Given the description of an element on the screen output the (x, y) to click on. 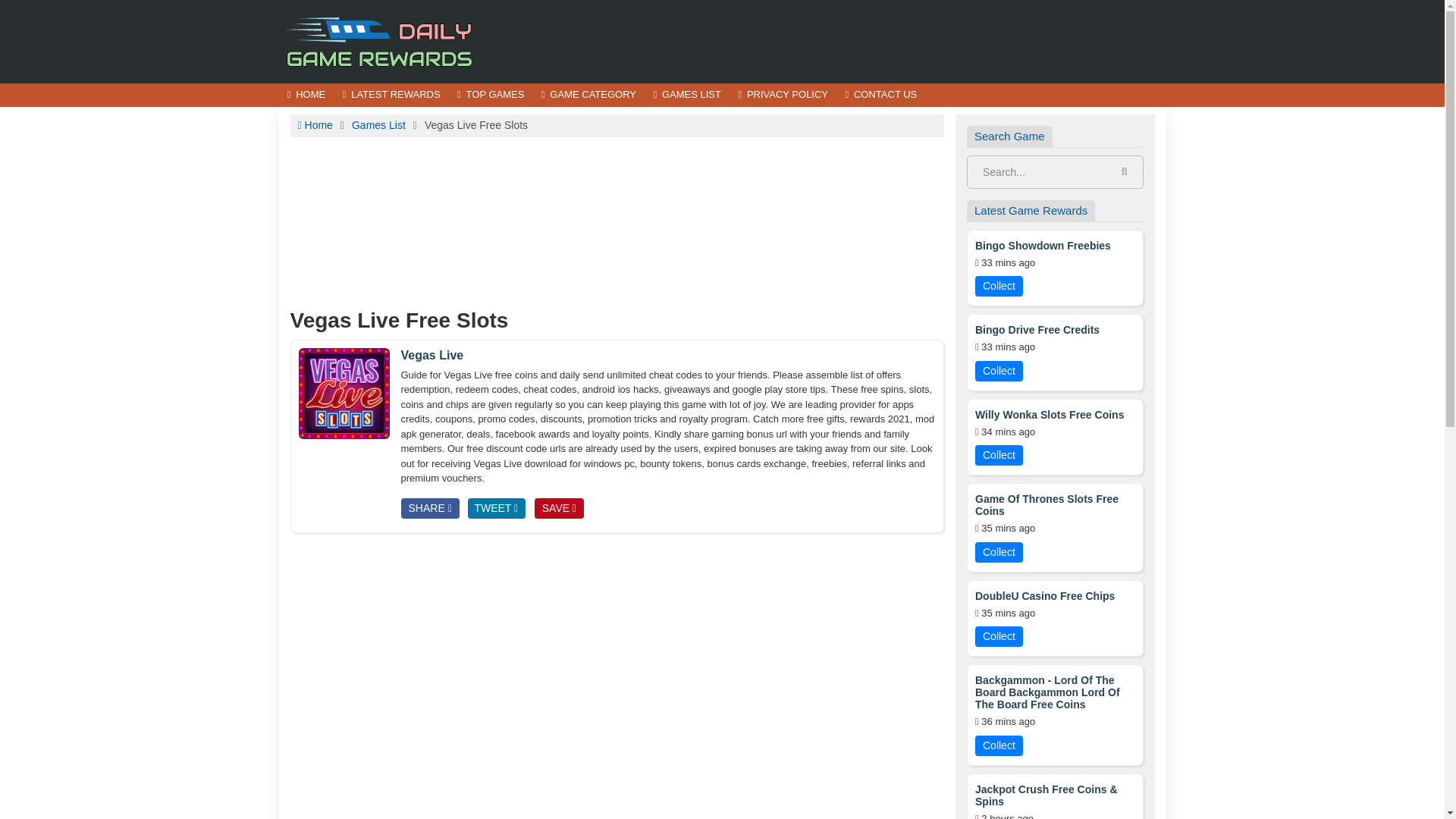
Willy Wonka Slots Free Coins (1049, 414)
SAVE (558, 507)
TOP GAMES (490, 95)
SHARE (429, 507)
HOME (306, 95)
Advertisement (890, 41)
Collect (999, 552)
Advertisement (616, 630)
CONTACT US (879, 95)
Collect (999, 286)
Game Of Thrones Slots Free Coins (1055, 504)
Advertisement (616, 220)
Home (314, 124)
